Given the description of an element on the screen output the (x, y) to click on. 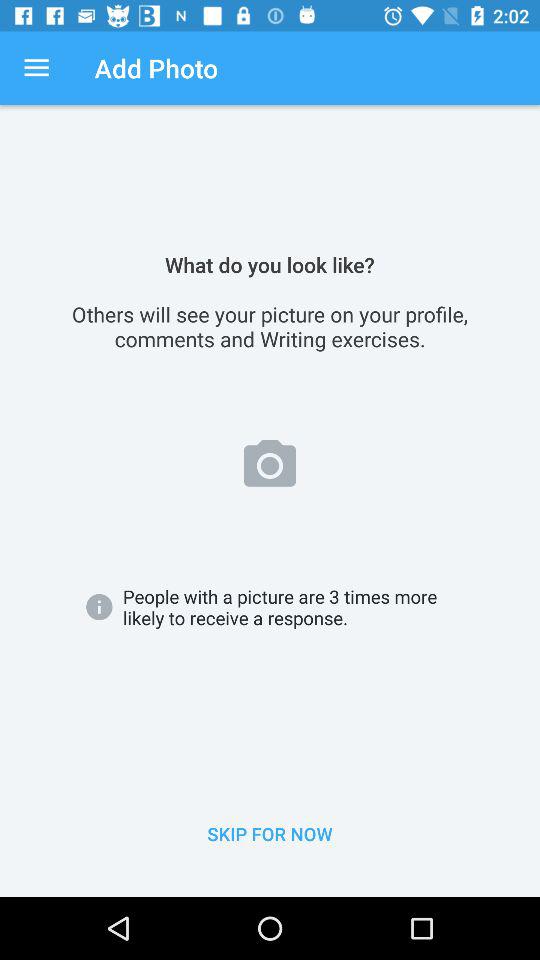
tap the skip for now icon (269, 833)
